Given the description of an element on the screen output the (x, y) to click on. 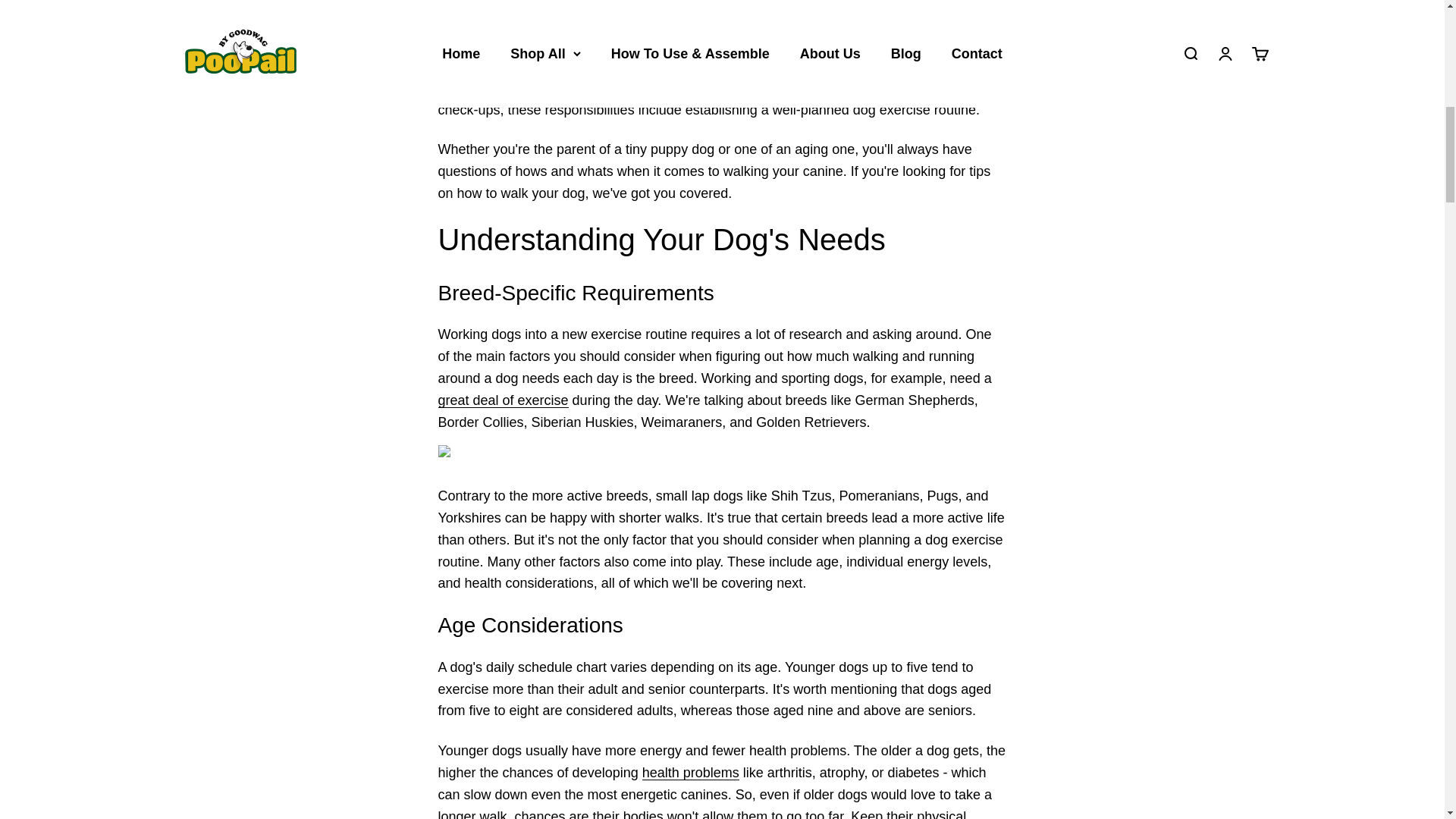
health problems (690, 772)
dog exercise (503, 400)
health problems (690, 772)
great deal of exercise (503, 400)
